Given the description of an element on the screen output the (x, y) to click on. 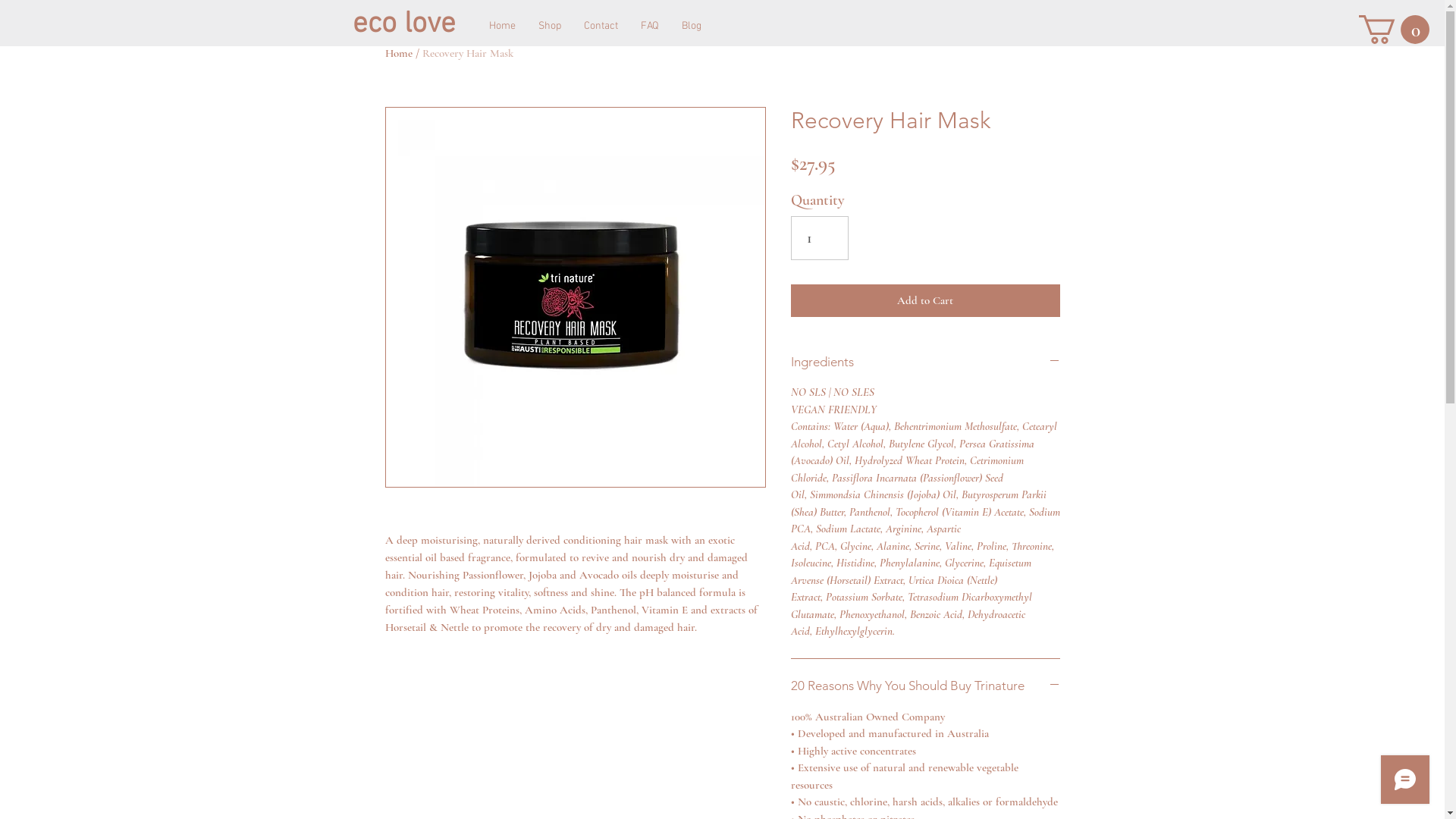
Add to Cart Element type: text (924, 300)
Blog Element type: text (691, 26)
0 Element type: text (1393, 29)
20 Reasons Why You Should Buy Trinature Element type: text (924, 686)
eco love Element type: text (413, 25)
Contact Element type: text (599, 26)
Home Element type: text (502, 26)
Recovery Hair Mask Element type: text (466, 52)
Ingredients Element type: text (924, 362)
Home Element type: text (398, 52)
